Given the description of an element on the screen output the (x, y) to click on. 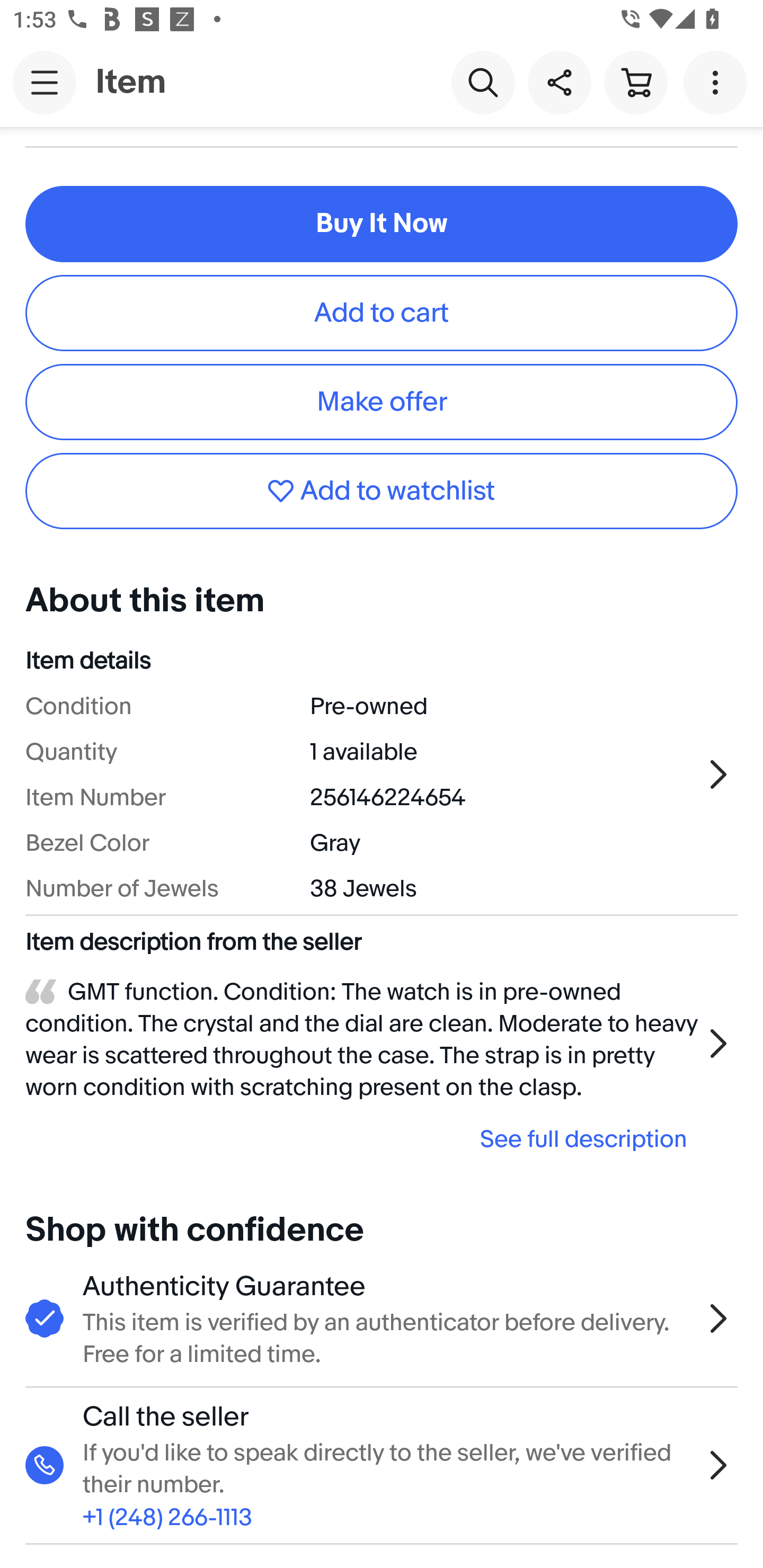
Main navigation, open (44, 82)
Search (482, 81)
Share this item (559, 81)
Cart button shopping cart (635, 81)
More options (718, 81)
Buy It Now (381, 223)
Add to cart (381, 312)
Make offer (381, 401)
Add to watchlist (381, 491)
See full description (362, 1138)
